Given the description of an element on the screen output the (x, y) to click on. 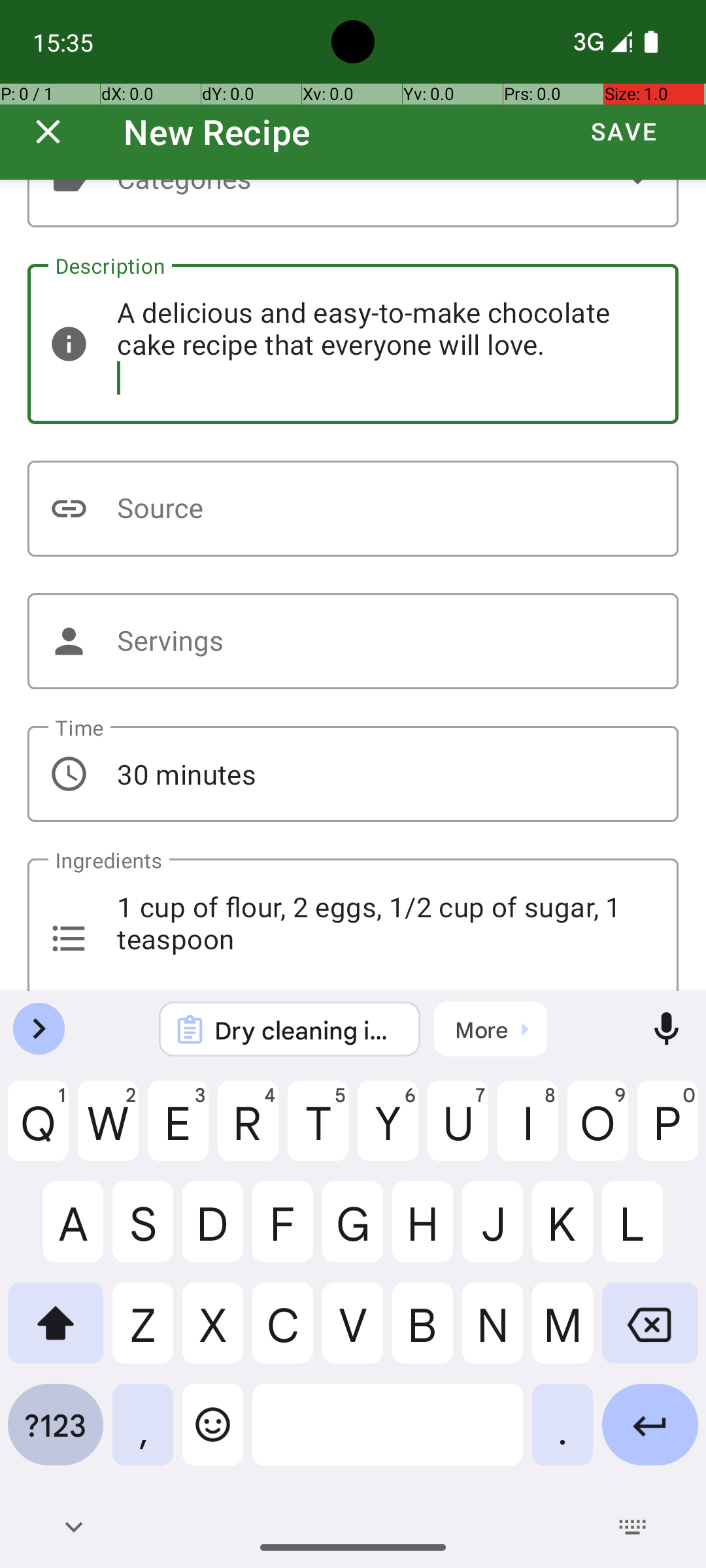
A delicious and easy-to-make chocolate cake recipe that everyone will love.
 Element type: android.widget.EditText (352, 343)
30 minutes Element type: android.widget.EditText (352, 773)
1 cup of flour, 2 eggs, 1/2 cup of sugar, 1 teaspoon
 Element type: android.widget.EditText (352, 924)
Dry cleaning is ready for pick-up. Element type: android.widget.TextView (306, 1029)
